Given the description of an element on the screen output the (x, y) to click on. 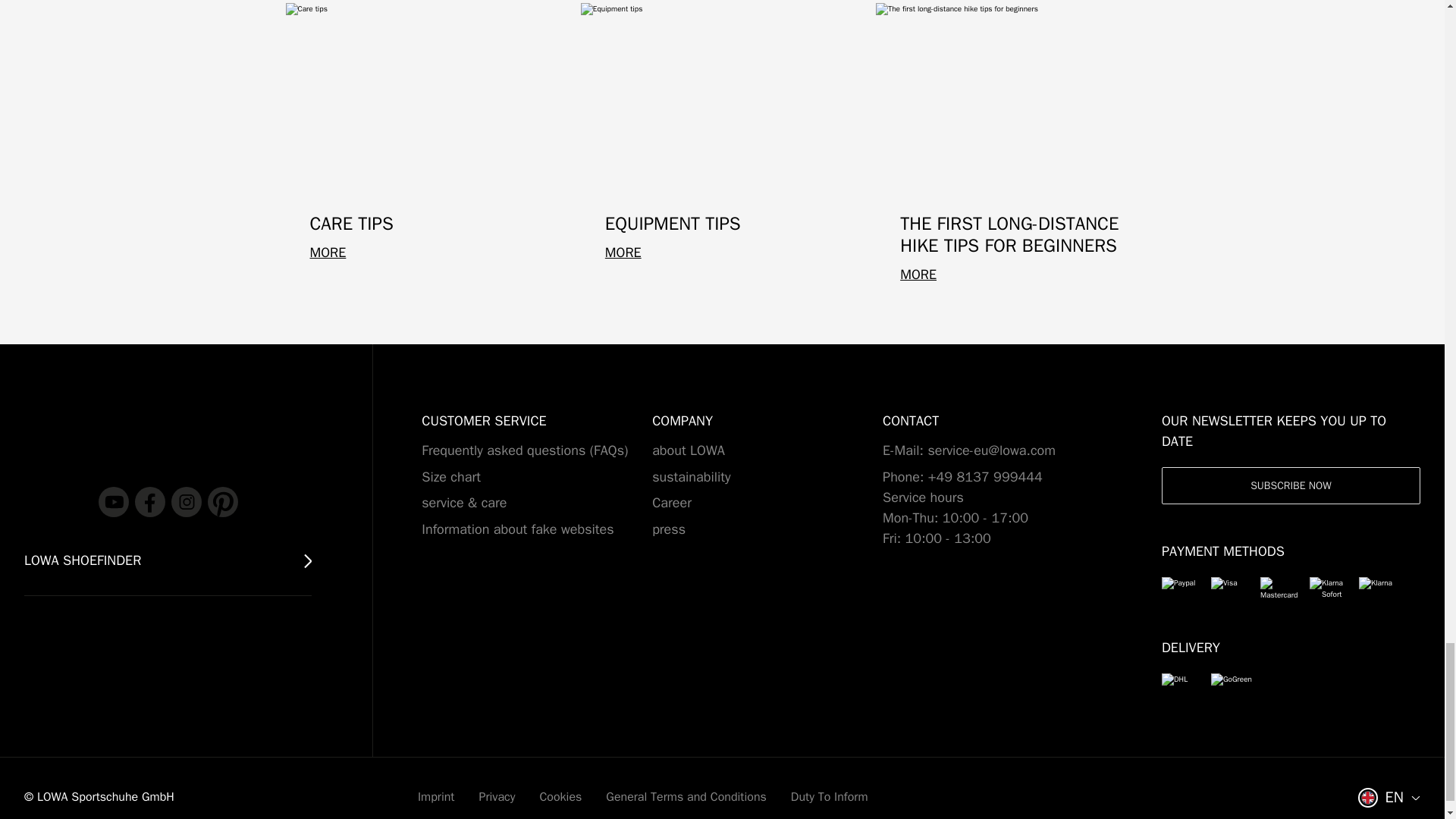
Imprint (435, 796)
Duty To Inform (828, 796)
General Terms and Conditions (686, 796)
Privacy (497, 796)
Subscribe now (1291, 485)
